Given the description of an element on the screen output the (x, y) to click on. 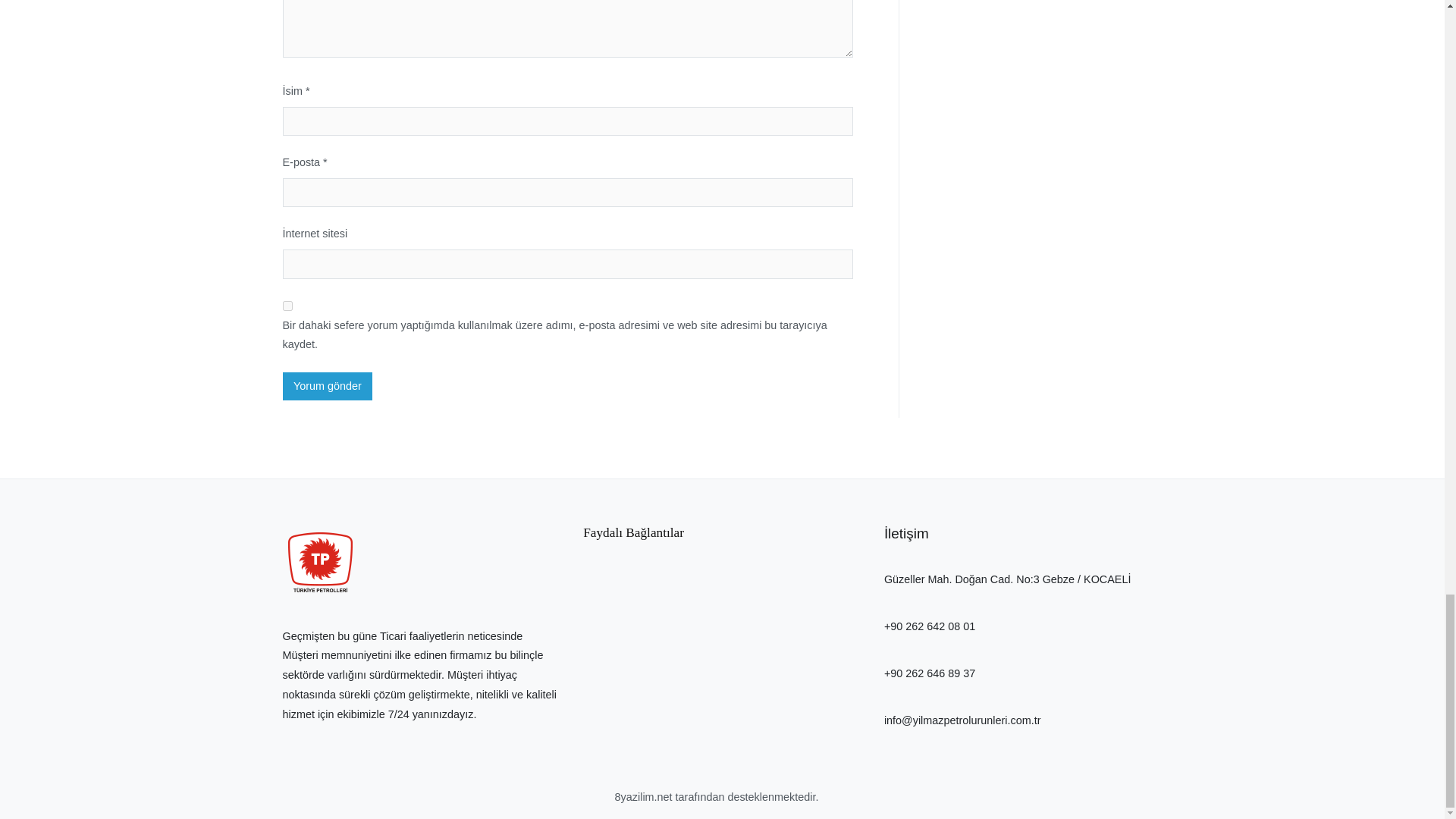
yes (287, 306)
